Given the description of an element on the screen output the (x, y) to click on. 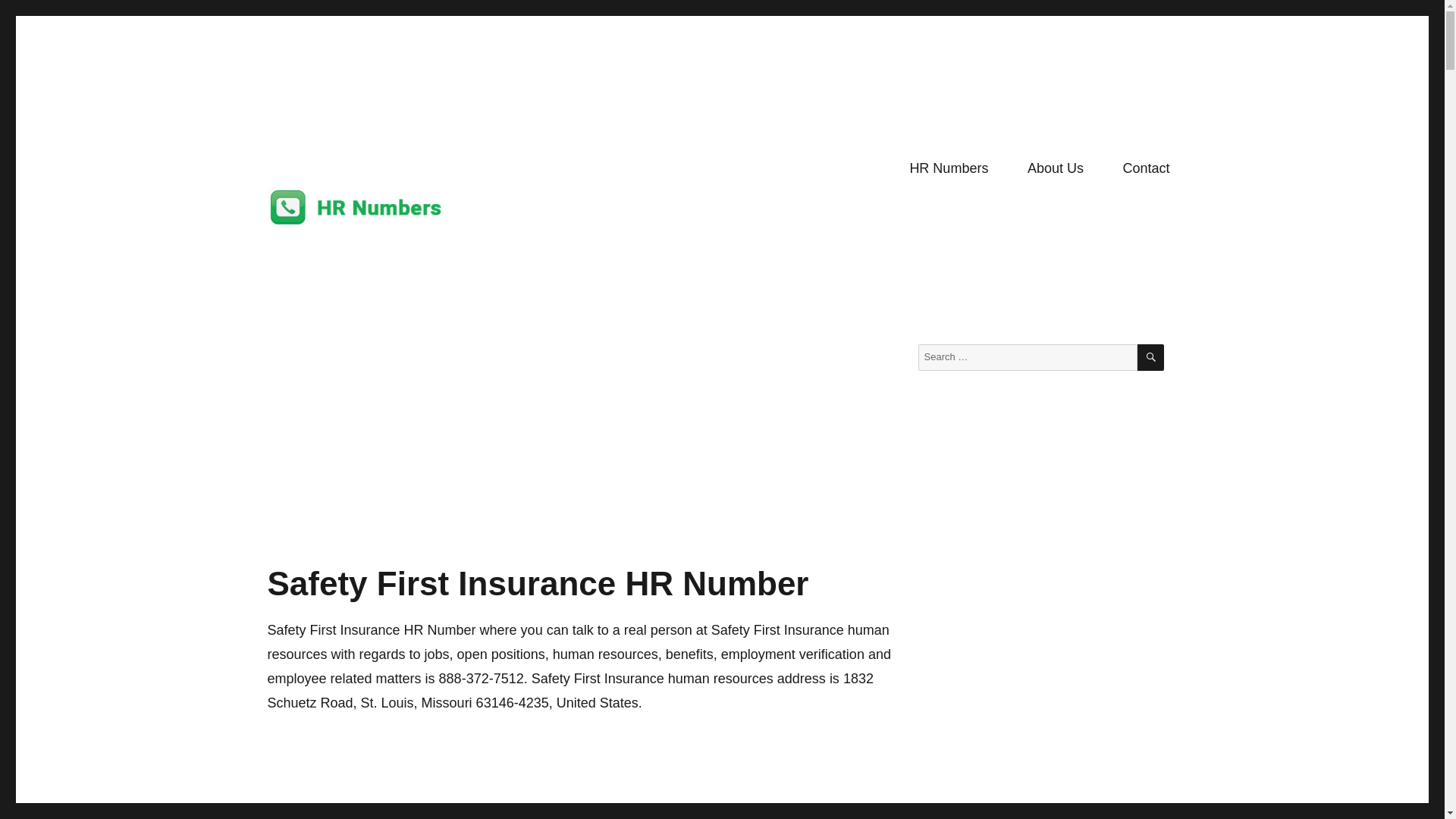
About Us (1055, 168)
Contact (1146, 168)
HR Numbers (331, 250)
HR Numbers (949, 168)
SEARCH (1150, 357)
